Given the description of an element on the screen output the (x, y) to click on. 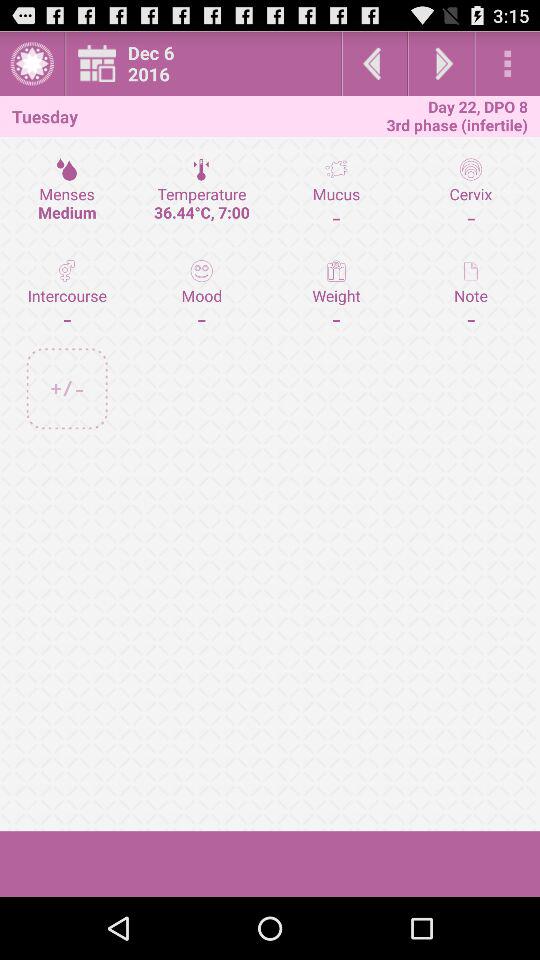
more options (507, 63)
